Given the description of an element on the screen output the (x, y) to click on. 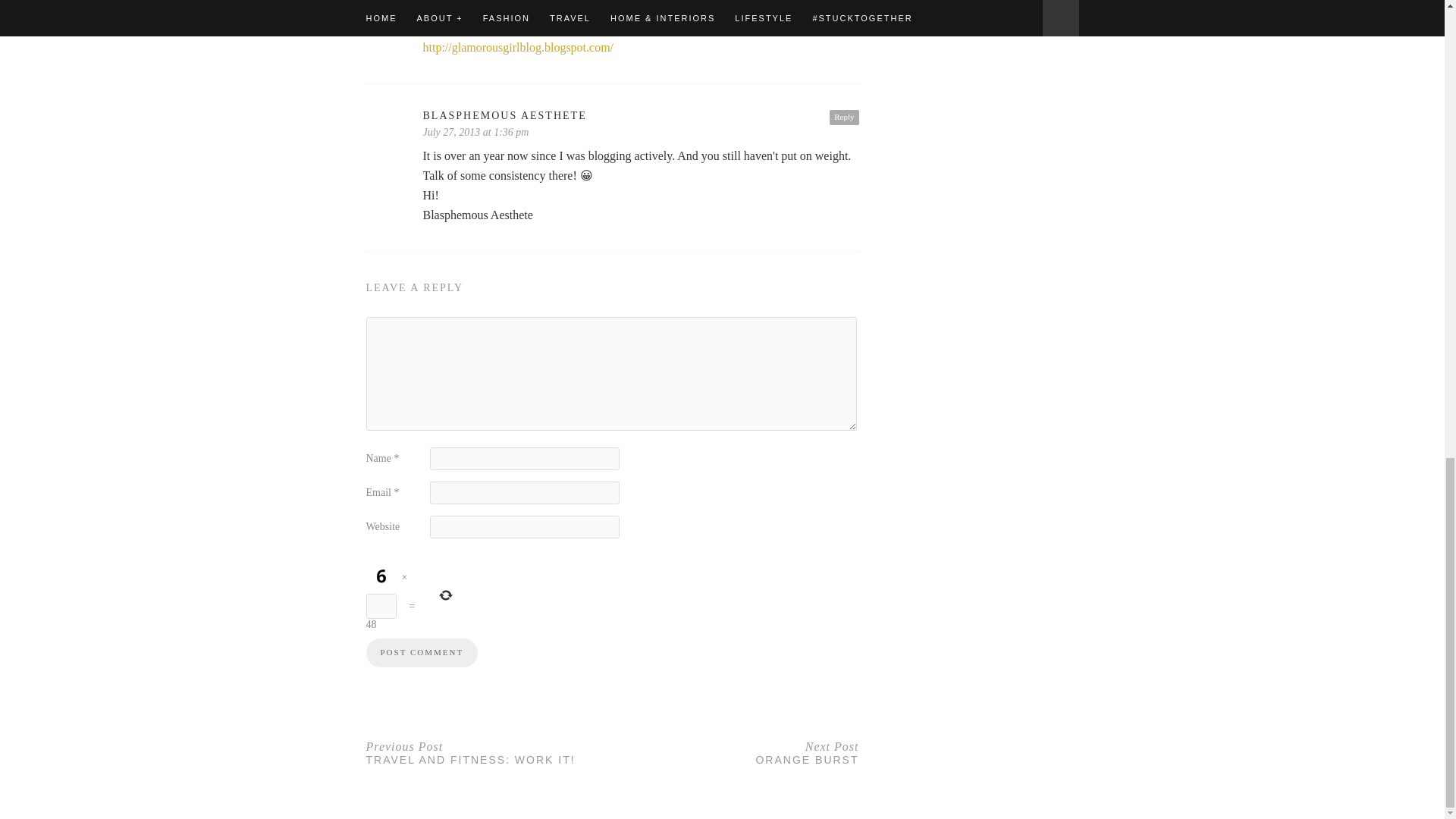
Post Comment (735, 752)
Post Comment (421, 652)
BLASPHEMOUS AESTHETE (421, 652)
Reply (641, 115)
